Given the description of an element on the screen output the (x, y) to click on. 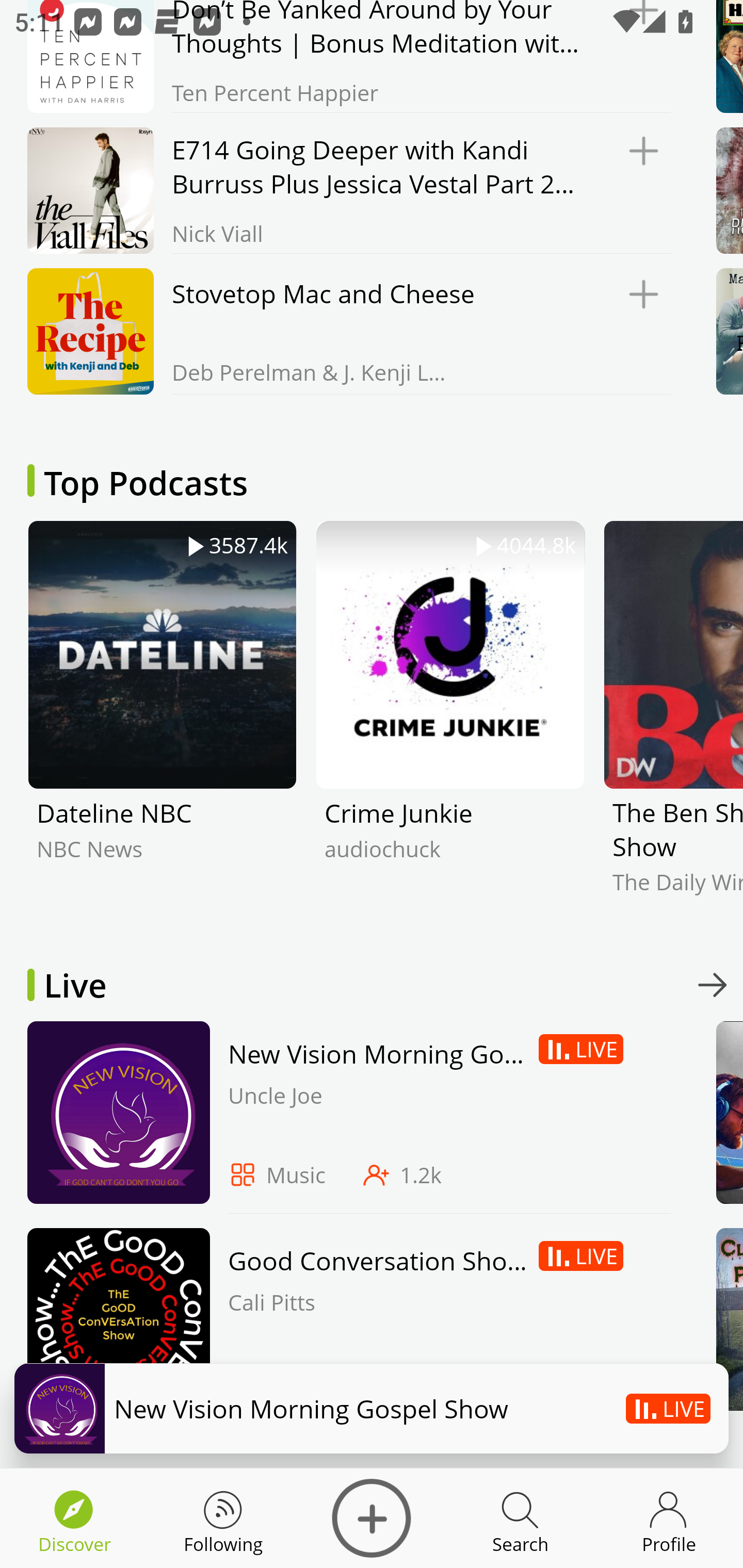
3587.4k Dateline NBC NBC News (162, 722)
4044.8k Crime Junkie audiochuck (450, 722)
The Ben Shapiro Show The Daily Wire (673, 722)
Good Conversation Show. LIVE Cali Pitts Music 4.0k (344, 1323)
Podbean New Vision Morning Gospel Show LIVE (371, 1407)
Discover Following (222, 1518)
Discover (371, 1518)
Discover Search (519, 1518)
Discover Profile (668, 1518)
